Given the description of an element on the screen output the (x, y) to click on. 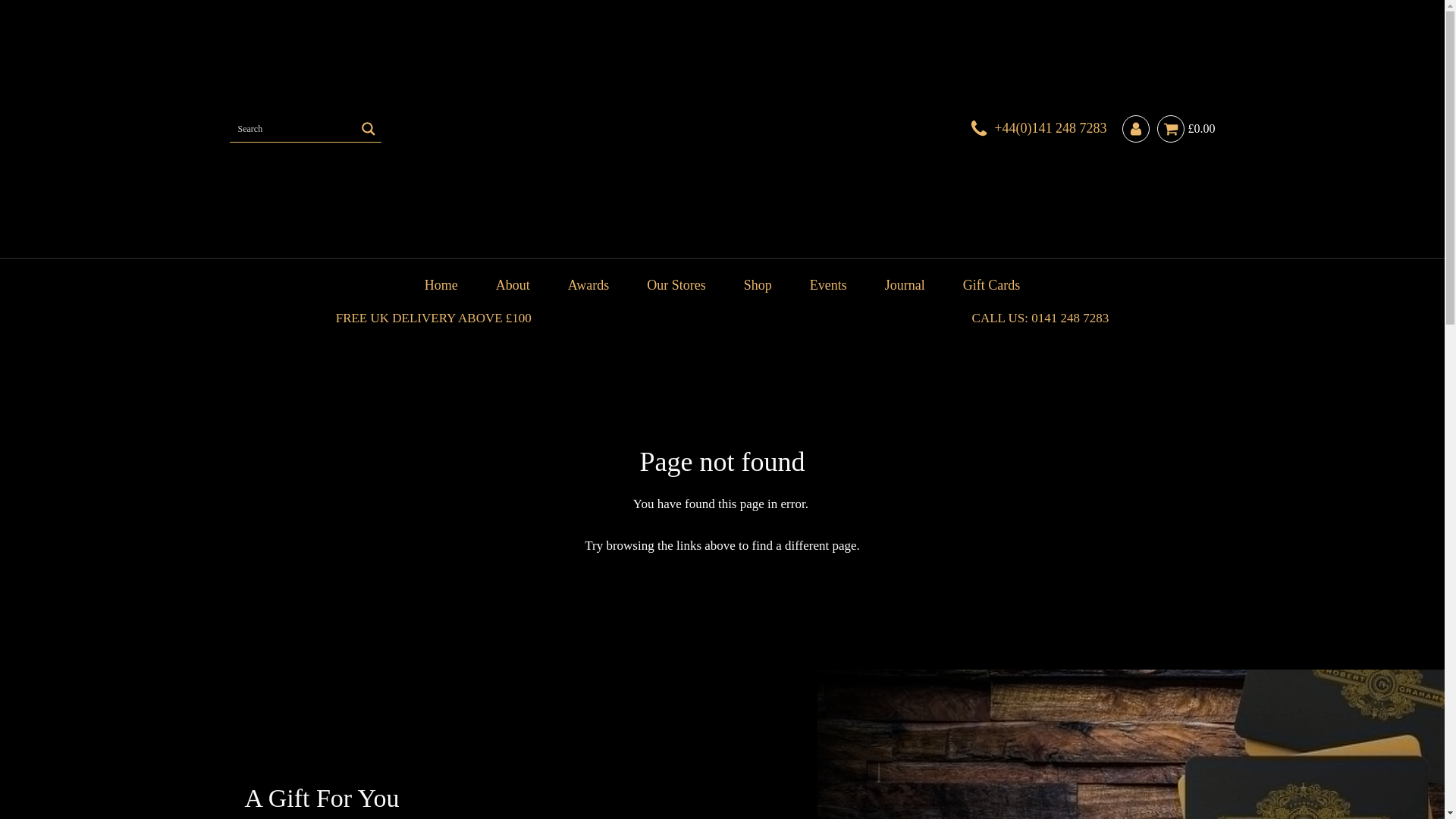
Awards (587, 285)
Home (441, 285)
Gift Cards (991, 285)
About (512, 285)
Events (828, 285)
Journal (904, 285)
Shop (757, 285)
Our Stores (676, 285)
